Given the description of an element on the screen output the (x, y) to click on. 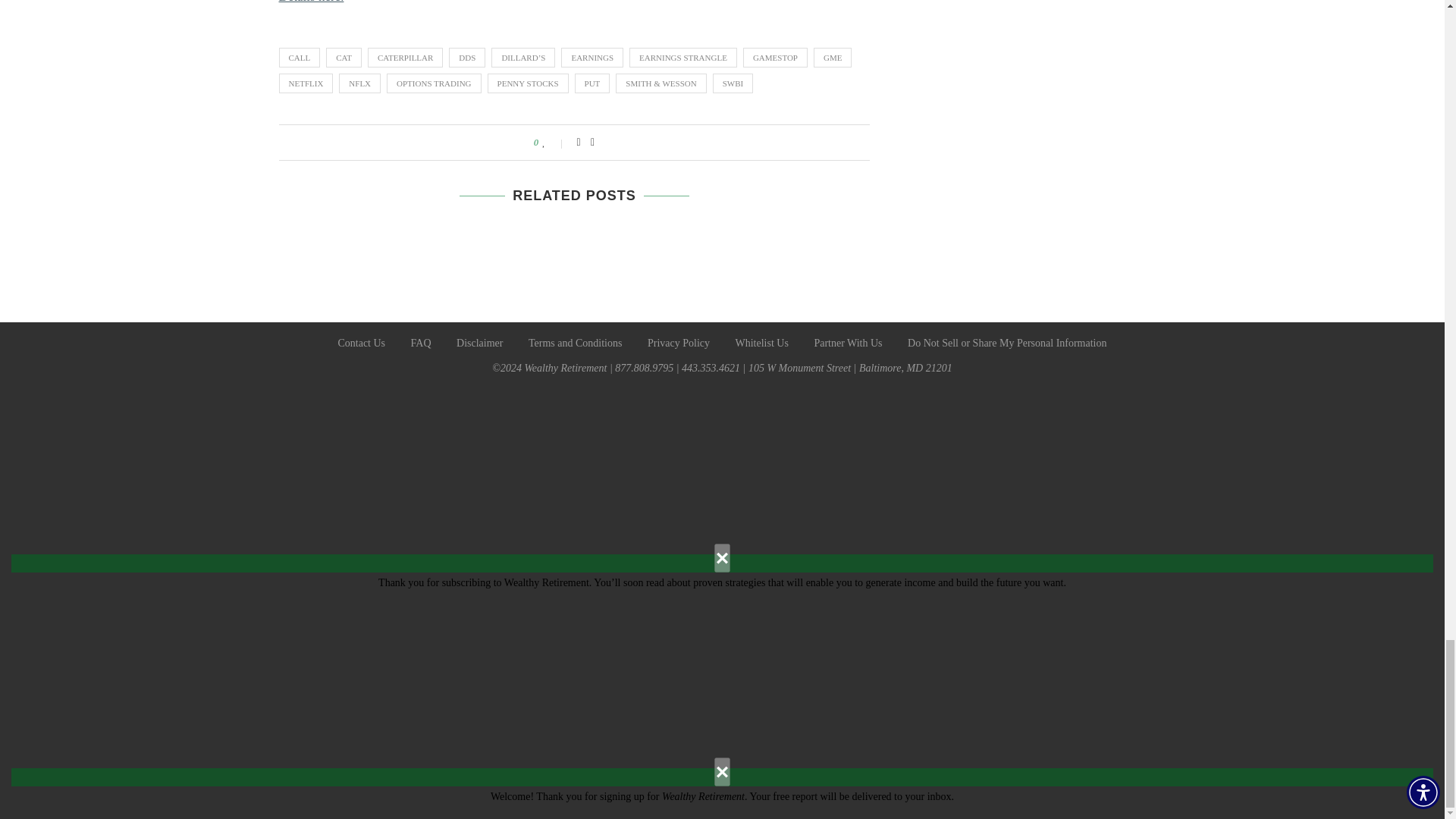
Like (553, 142)
